Given the description of an element on the screen output the (x, y) to click on. 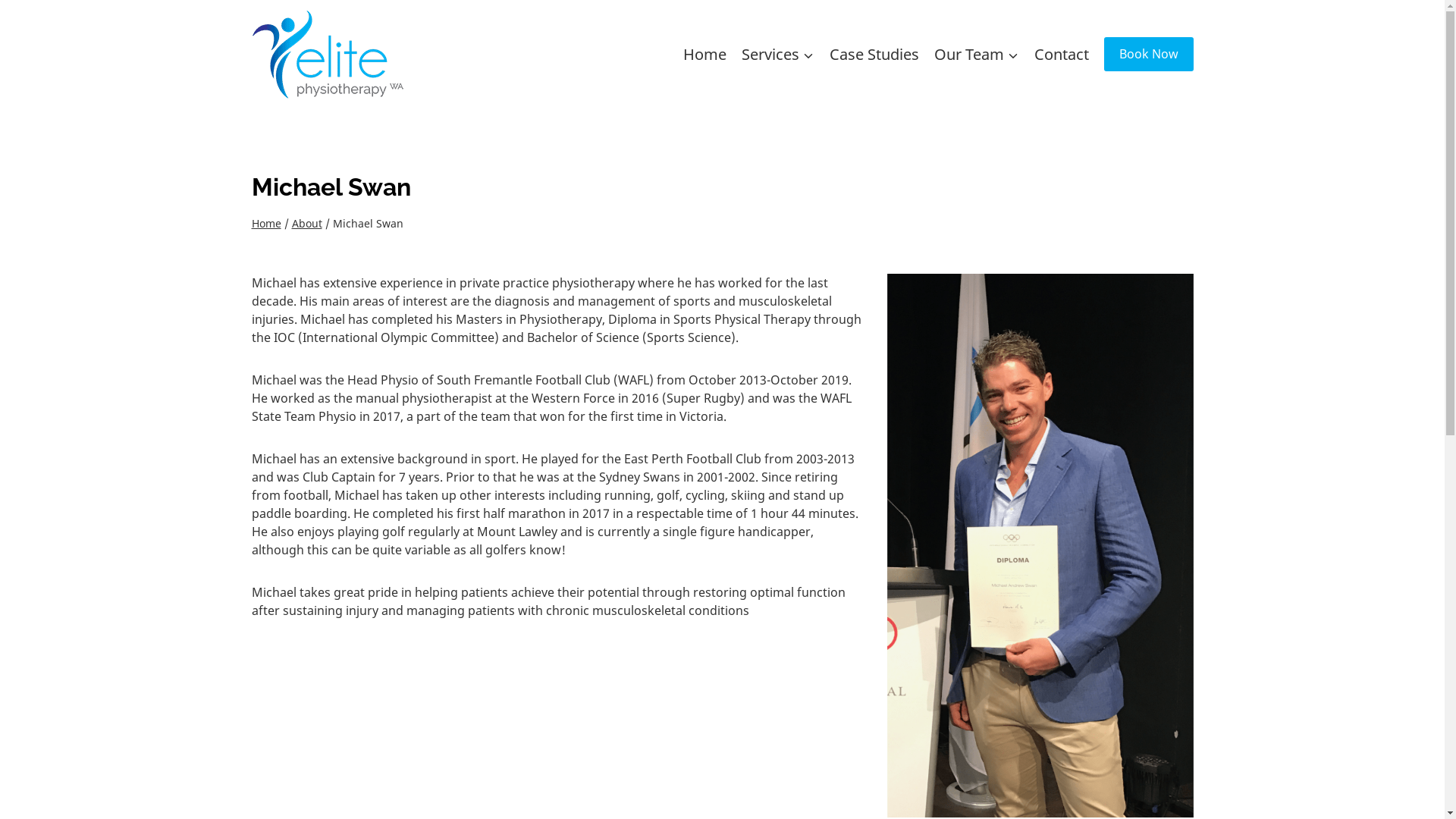
Contact Element type: text (1061, 53)
Our Team Element type: text (976, 53)
Home Element type: text (703, 53)
Services Element type: text (778, 53)
Case Studies Element type: text (874, 53)
Book Now Element type: text (1148, 54)
Home Element type: text (266, 223)
About Element type: text (306, 223)
